Given the description of an element on the screen output the (x, y) to click on. 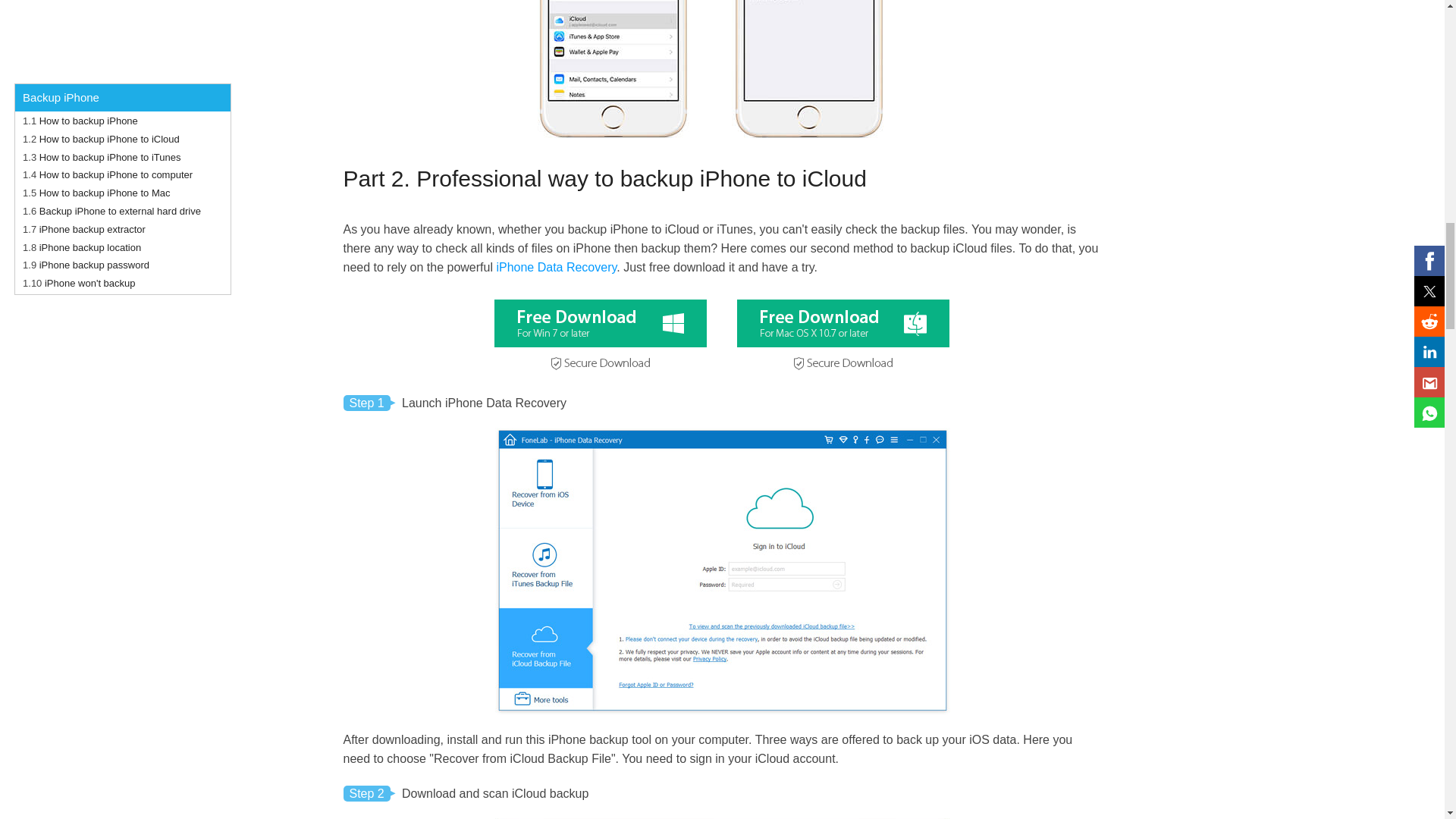
iPhone Data Recovery (555, 267)
